Given the description of an element on the screen output the (x, y) to click on. 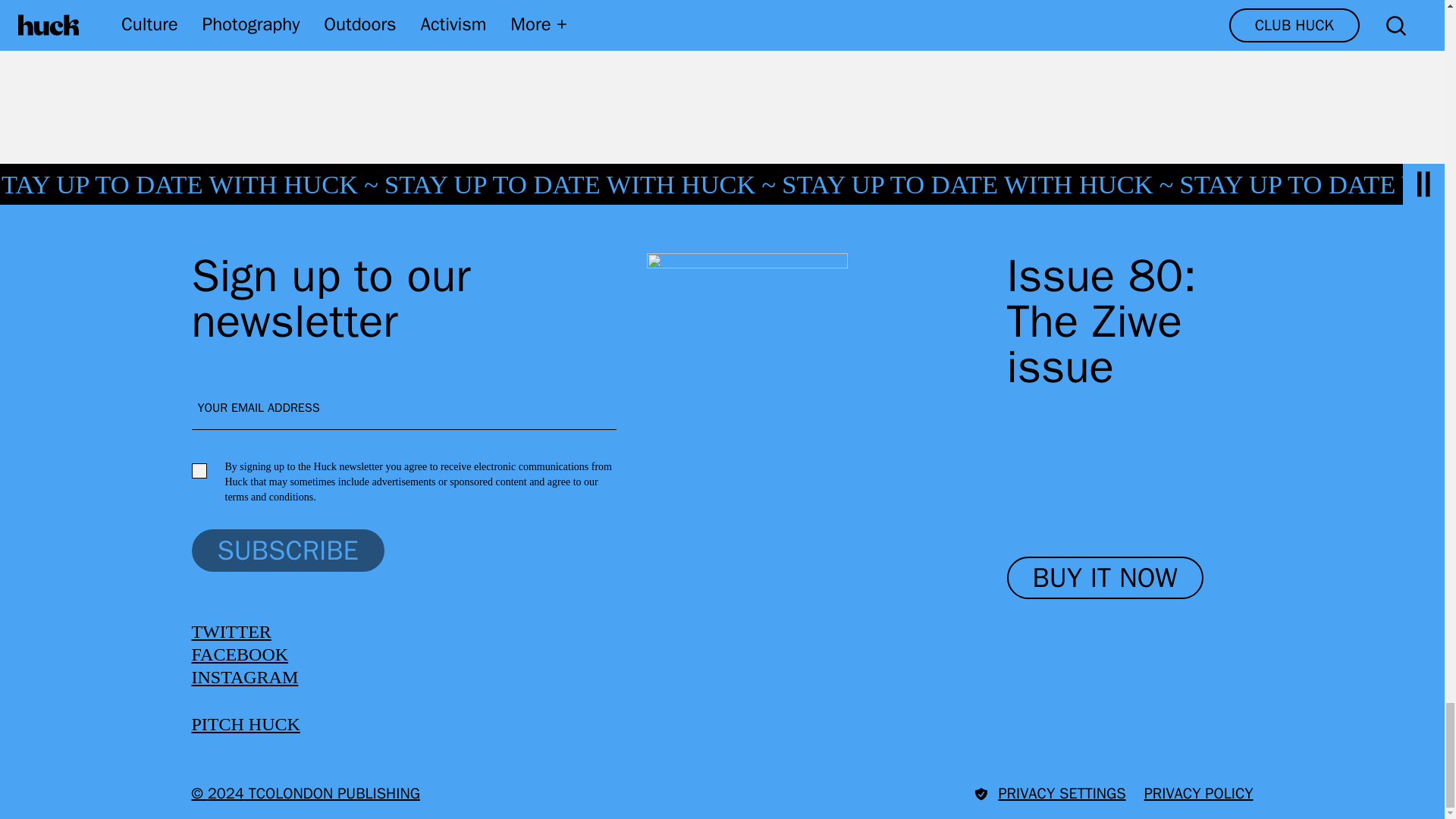
PRIVACY SETTINGS (1049, 793)
FACEBOOK (239, 654)
on (198, 470)
PITCH HUCK (244, 723)
MAGAZINE (251, 14)
BUY IT NOW (1105, 577)
PRIVACY POLICY (1198, 793)
ACTIVISM (375, 14)
SUBSCRIBE (287, 550)
INSTAGRAM (244, 677)
REFUGEES (502, 14)
TWITTER (230, 631)
